Given the description of an element on the screen output the (x, y) to click on. 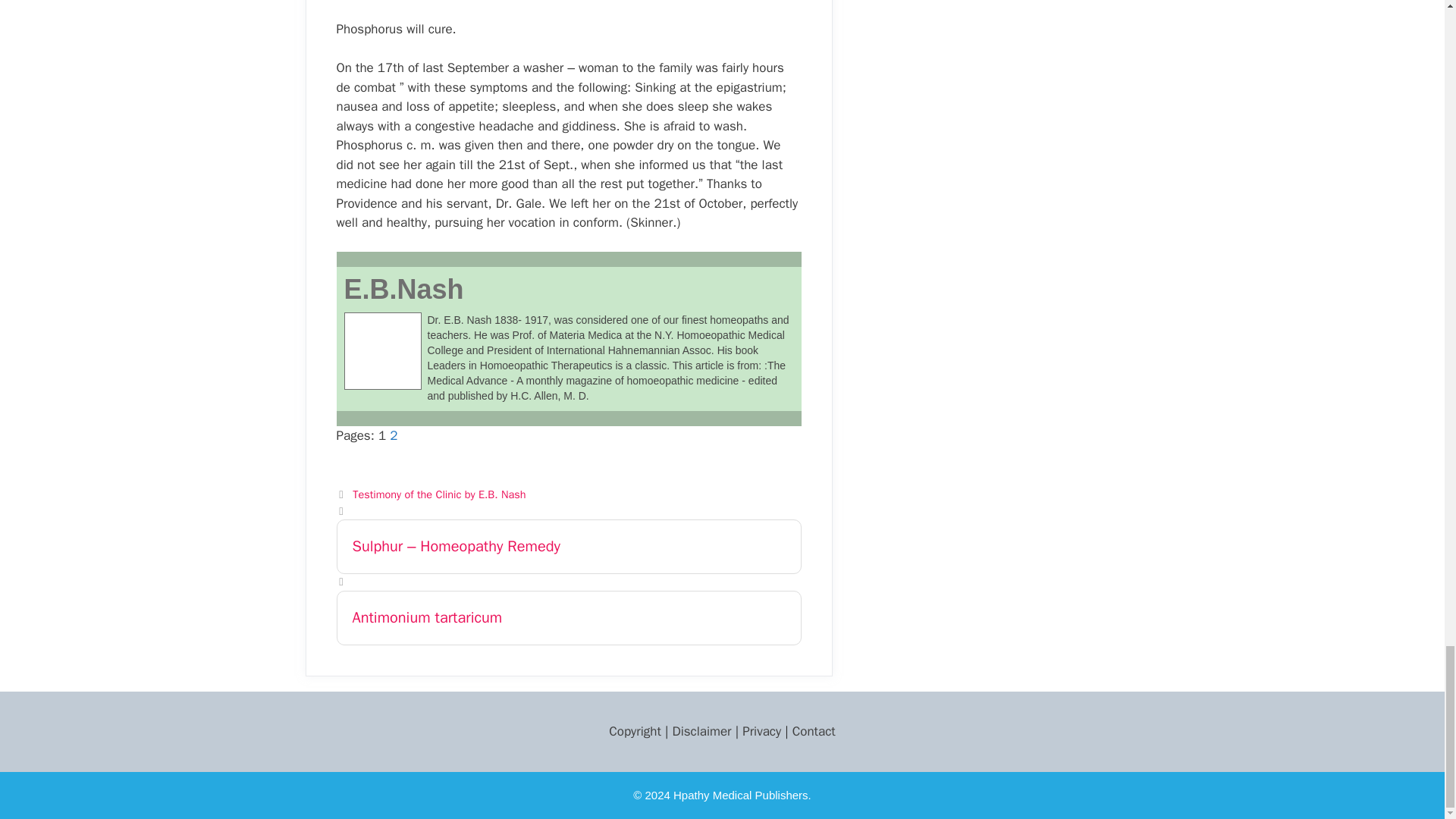
Disclaimer (700, 731)
Contact (813, 731)
Privacy (761, 731)
Testimony of the Clinic by E.B. Nash (438, 494)
E.B.Nash (403, 288)
E.B.Nash (403, 288)
Antimonium tartaricum (569, 617)
Copyright (634, 731)
